Given the description of an element on the screen output the (x, y) to click on. 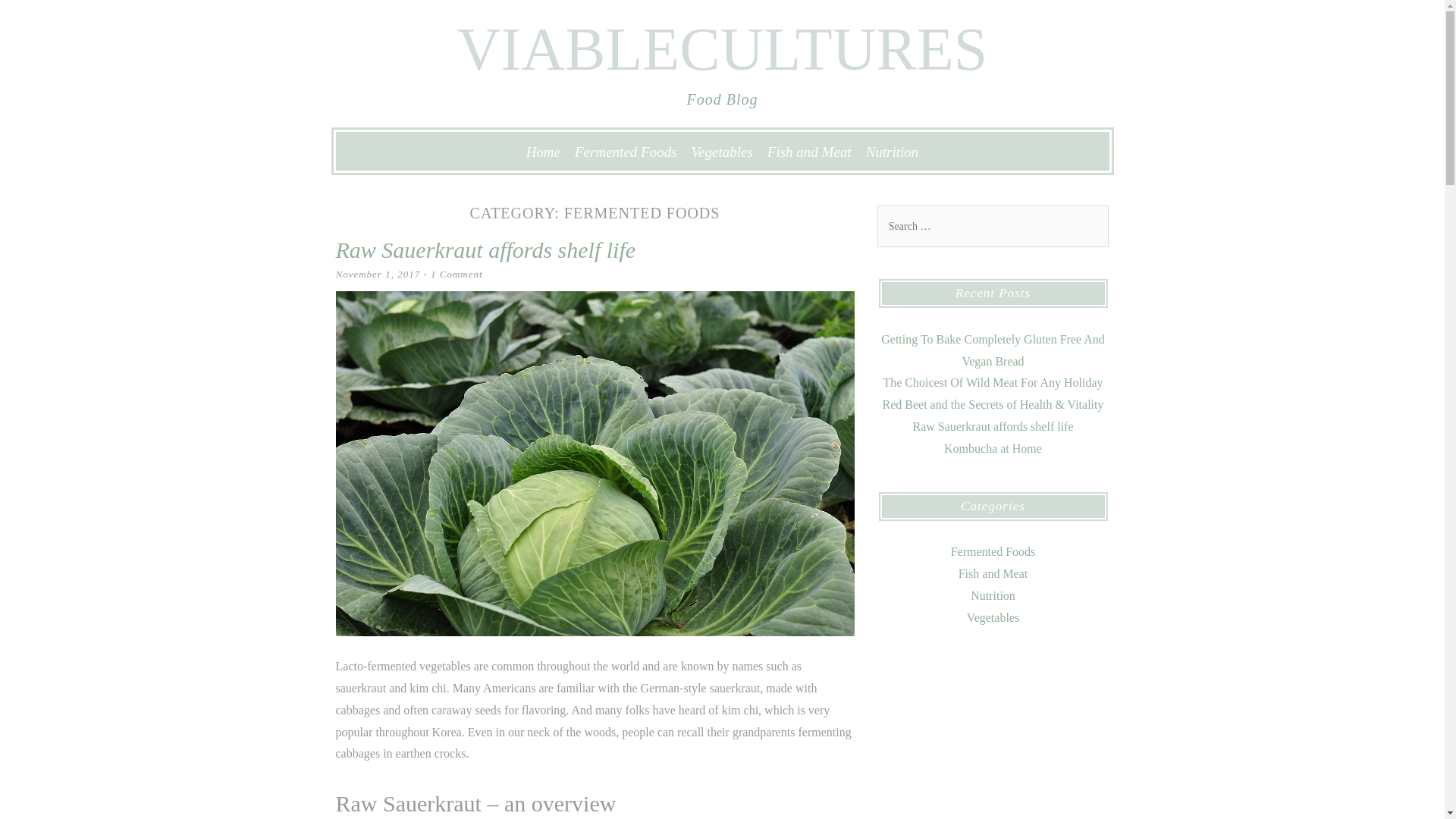
Raw Sauerkraut affords shelf life (484, 249)
Fish and Meat (992, 573)
Skip to content (383, 149)
Kombucha at Home (992, 448)
Vegetables (721, 151)
Raw Sauerkraut affords shelf life (992, 426)
Getting To Bake Completely Gluten Free And Vegan Bread (992, 349)
Fermented Foods (992, 551)
1 Comment (456, 274)
Vegetables (992, 617)
Fermented Foods (626, 151)
Nutrition (992, 594)
November 1, 2017 (377, 274)
The Choicest Of Wild Meat For Any Holiday (992, 382)
Nutrition (892, 151)
